Given the description of an element on the screen output the (x, y) to click on. 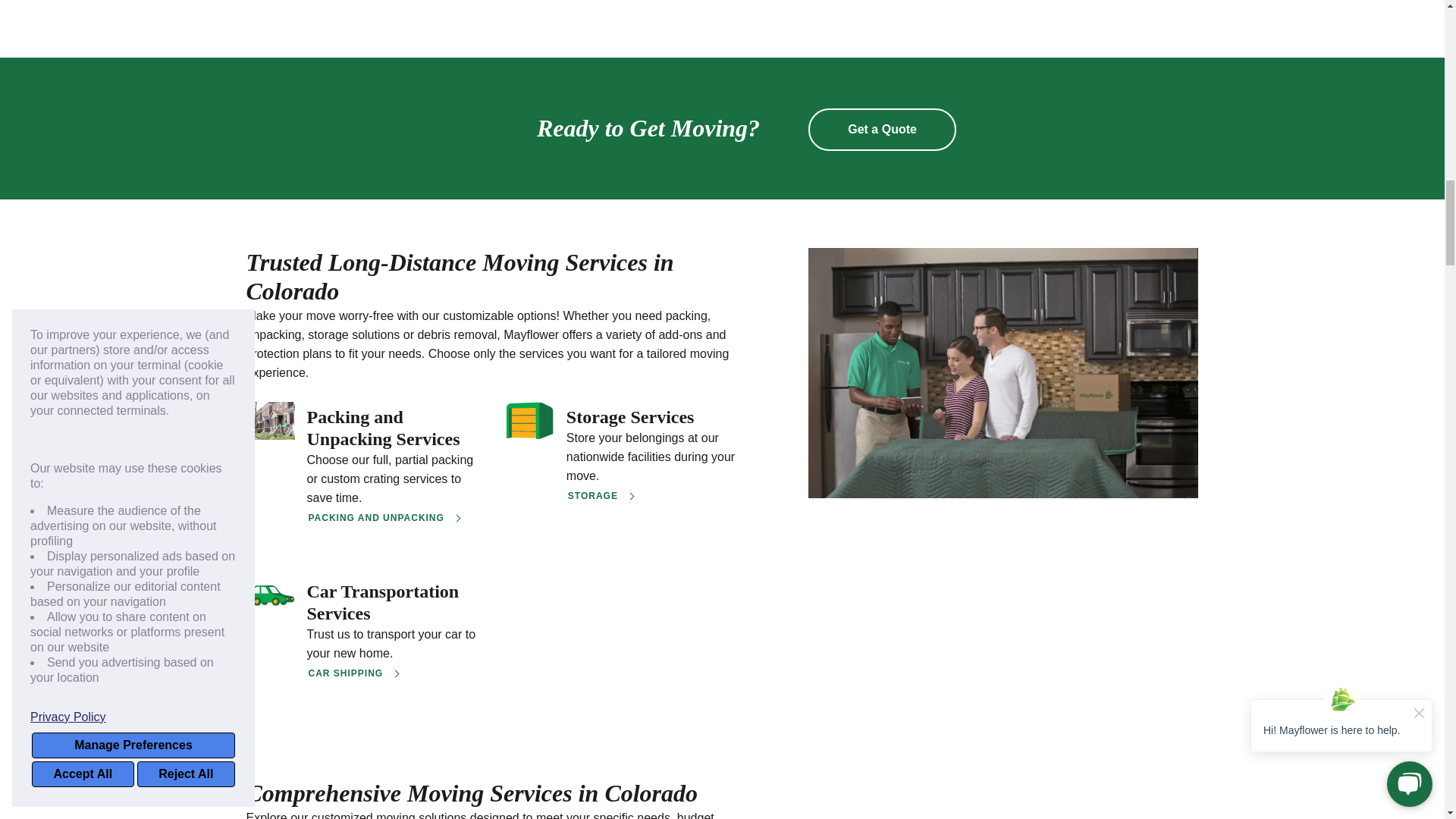
Packing and Unpacking (392, 428)
Storage (652, 417)
Car Shipping (392, 602)
